Given the description of an element on the screen output the (x, y) to click on. 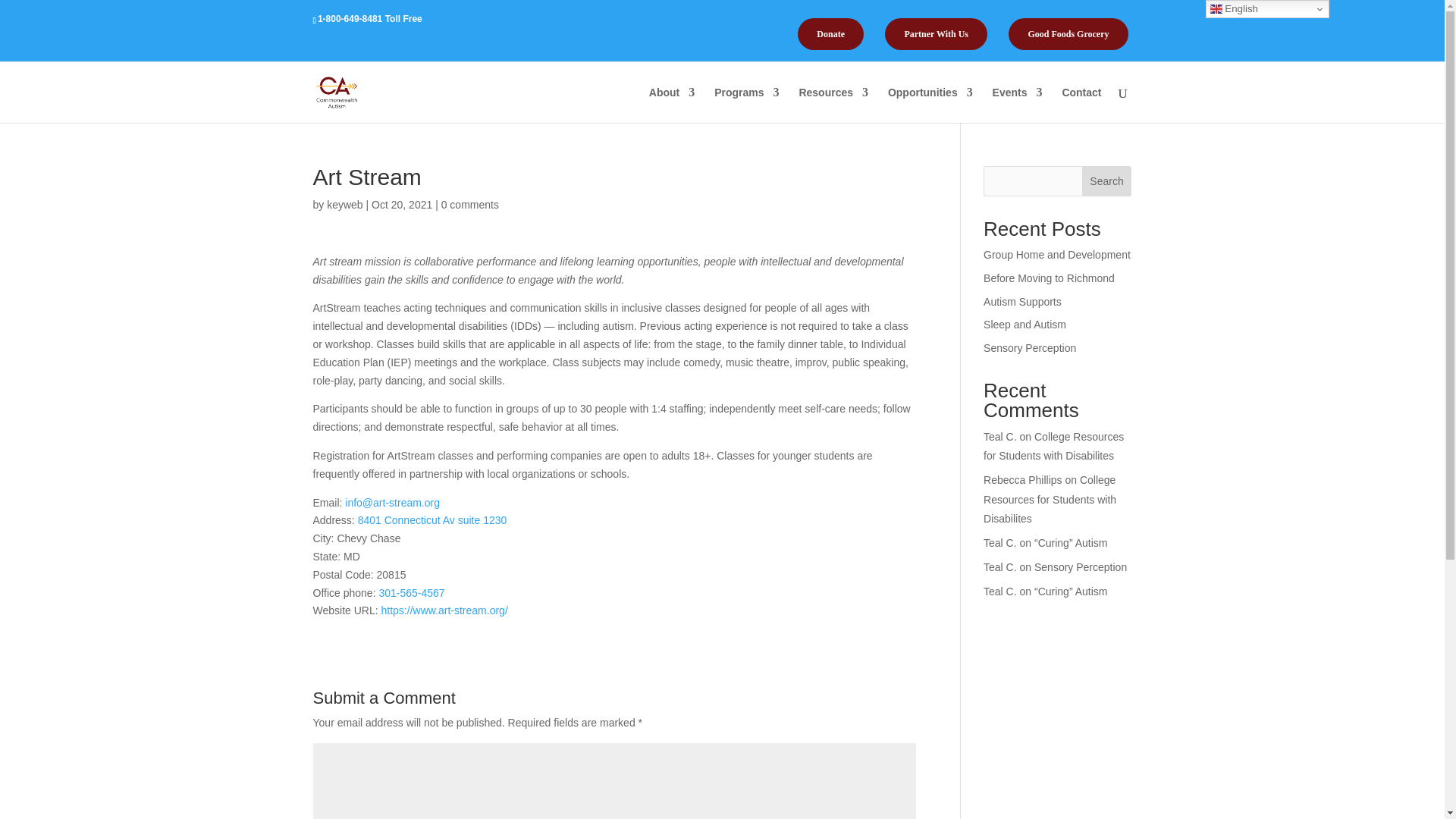
Opportunities (930, 104)
Events (1017, 104)
Resources (832, 104)
Contact (1080, 104)
About (671, 104)
Programs (746, 104)
Donate (830, 33)
Partner With Us (936, 33)
Good Foods Grocery (1067, 33)
Posts by keyweb (344, 204)
